Given the description of an element on the screen output the (x, y) to click on. 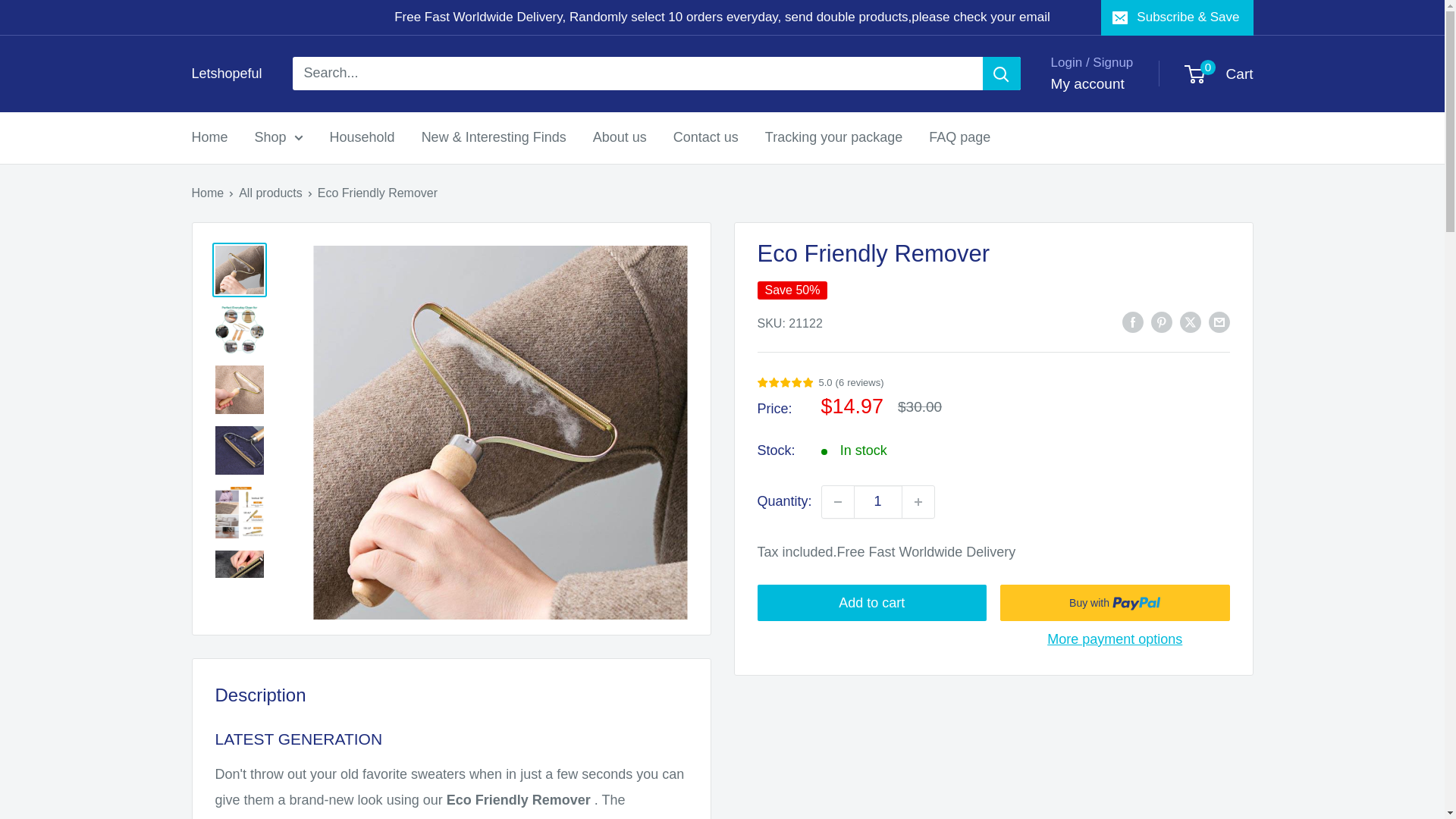
Tracking your package (833, 137)
Household (362, 137)
Letshopeful (226, 73)
Decrease quantity by 1 (1219, 73)
Increase quantity by 1 (837, 501)
Shop (918, 501)
Contact us (278, 137)
1 (705, 137)
About us (877, 501)
My account (619, 137)
Home (1087, 83)
